Given the description of an element on the screen output the (x, y) to click on. 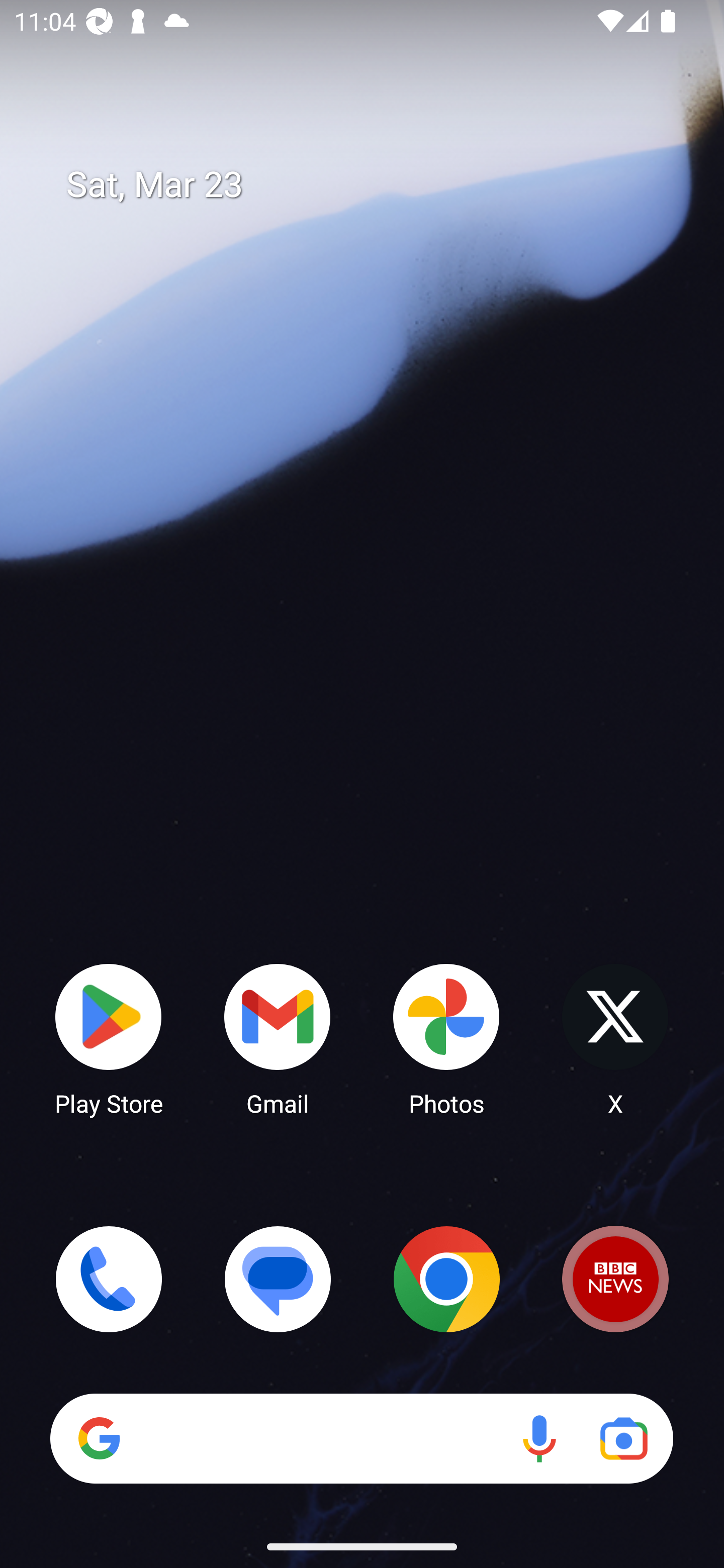
Sat, Mar 23 (375, 184)
Play Store (108, 1038)
Gmail (277, 1038)
Photos (445, 1038)
X (615, 1038)
Phone (108, 1279)
Messages (277, 1279)
Chrome (446, 1279)
BBC News Predicted app: BBC News (615, 1279)
Voice search (539, 1438)
Google Lens (623, 1438)
